Given the description of an element on the screen output the (x, y) to click on. 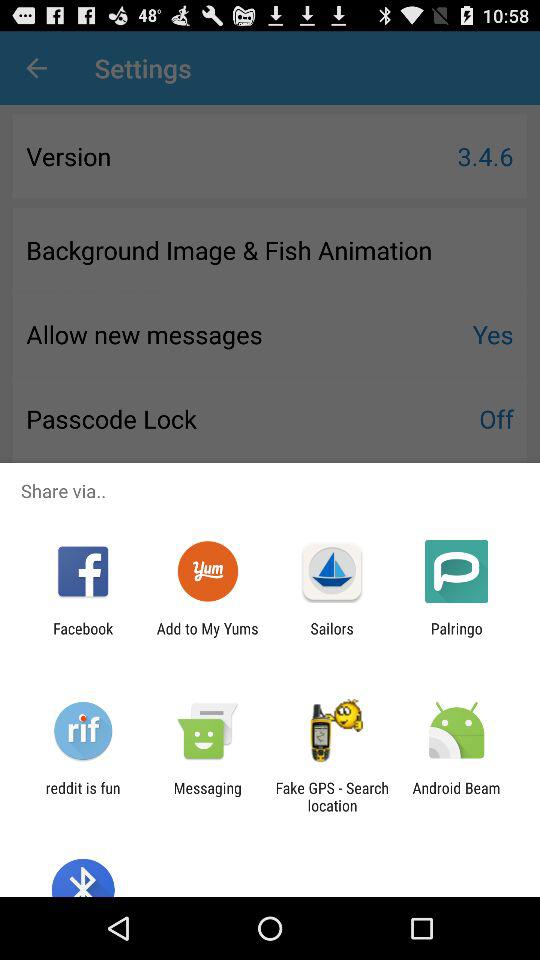
select the app next to reddit is fun app (207, 796)
